Given the description of an element on the screen output the (x, y) to click on. 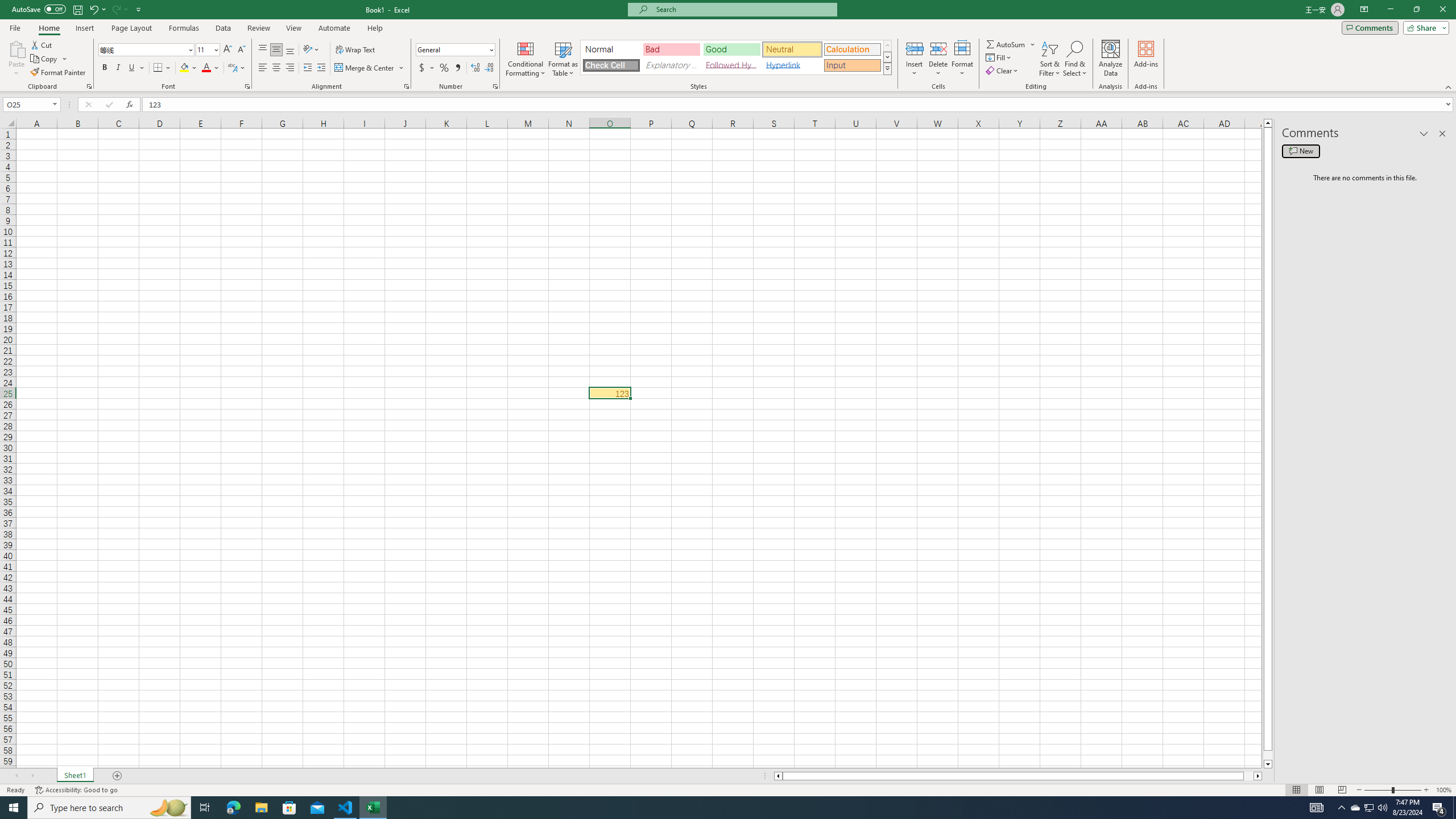
Class: MsoCommandBar (728, 45)
Number Format (455, 49)
Clear (1003, 69)
Home (48, 28)
View (293, 28)
Explanatory Text (671, 65)
Bad (671, 49)
Cut (42, 44)
Top Align (262, 49)
Font (147, 49)
Cell Styles (887, 68)
Close (1442, 9)
Line down (1267, 764)
Sum (1006, 44)
